Given the description of an element on the screen output the (x, y) to click on. 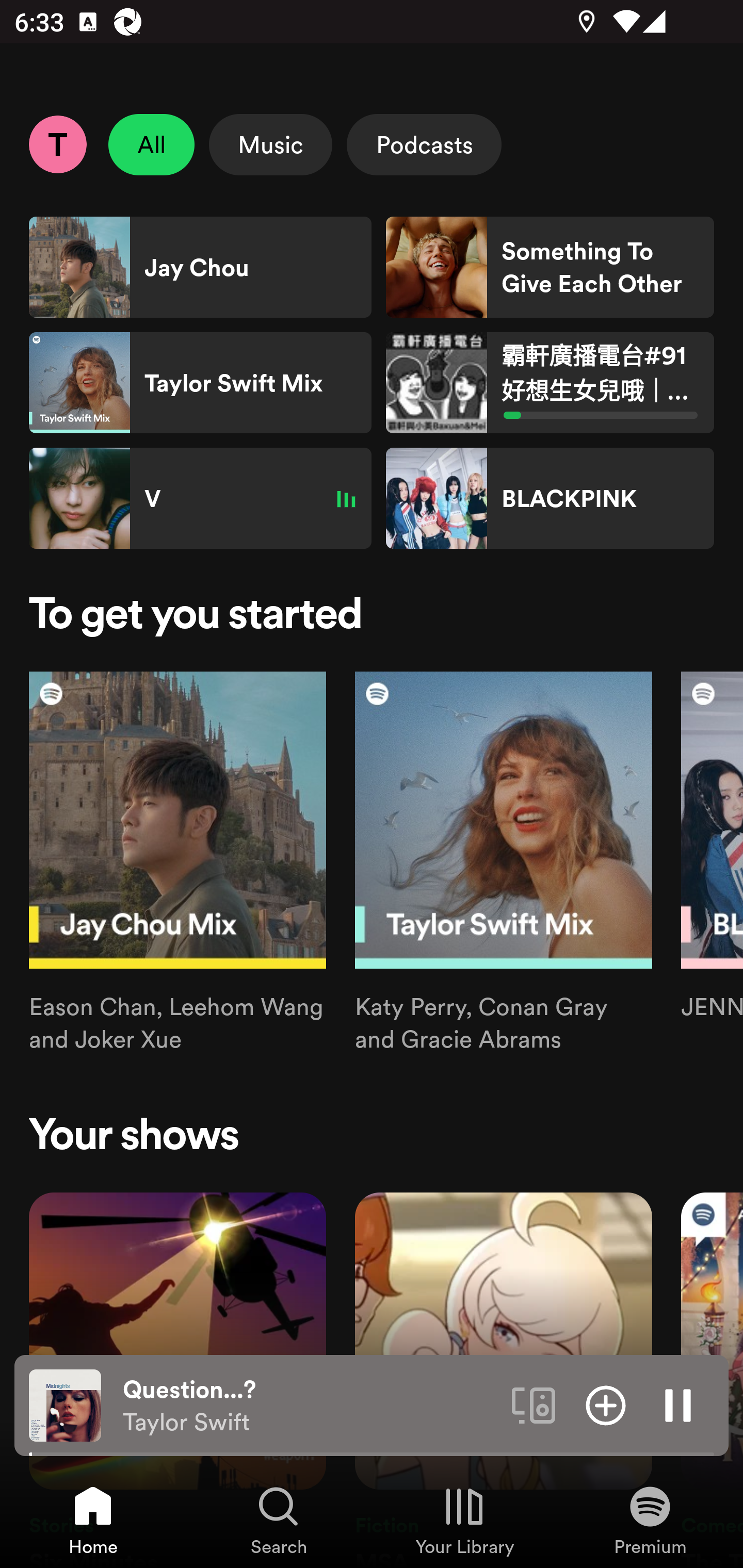
Profile (57, 144)
All Unselect All (151, 144)
Music Select Music (270, 144)
Podcasts Select Podcasts (423, 144)
Jay Chou Shortcut Jay Chou (199, 267)
Taylor Swift Mix Shortcut Taylor Swift Mix (199, 382)
V Shortcut V Playing (199, 498)
BLACKPINK Shortcut BLACKPINK (549, 498)
Question...? Taylor Swift (309, 1405)
The cover art of the currently playing track (64, 1404)
Connect to a device. Opens the devices menu (533, 1404)
Add item (605, 1404)
Pause (677, 1404)
Home, Tab 1 of 4 Home Home (92, 1519)
Search, Tab 2 of 4 Search Search (278, 1519)
Your Library, Tab 3 of 4 Your Library Your Library (464, 1519)
Premium, Tab 4 of 4 Premium Premium (650, 1519)
